Given the description of an element on the screen output the (x, y) to click on. 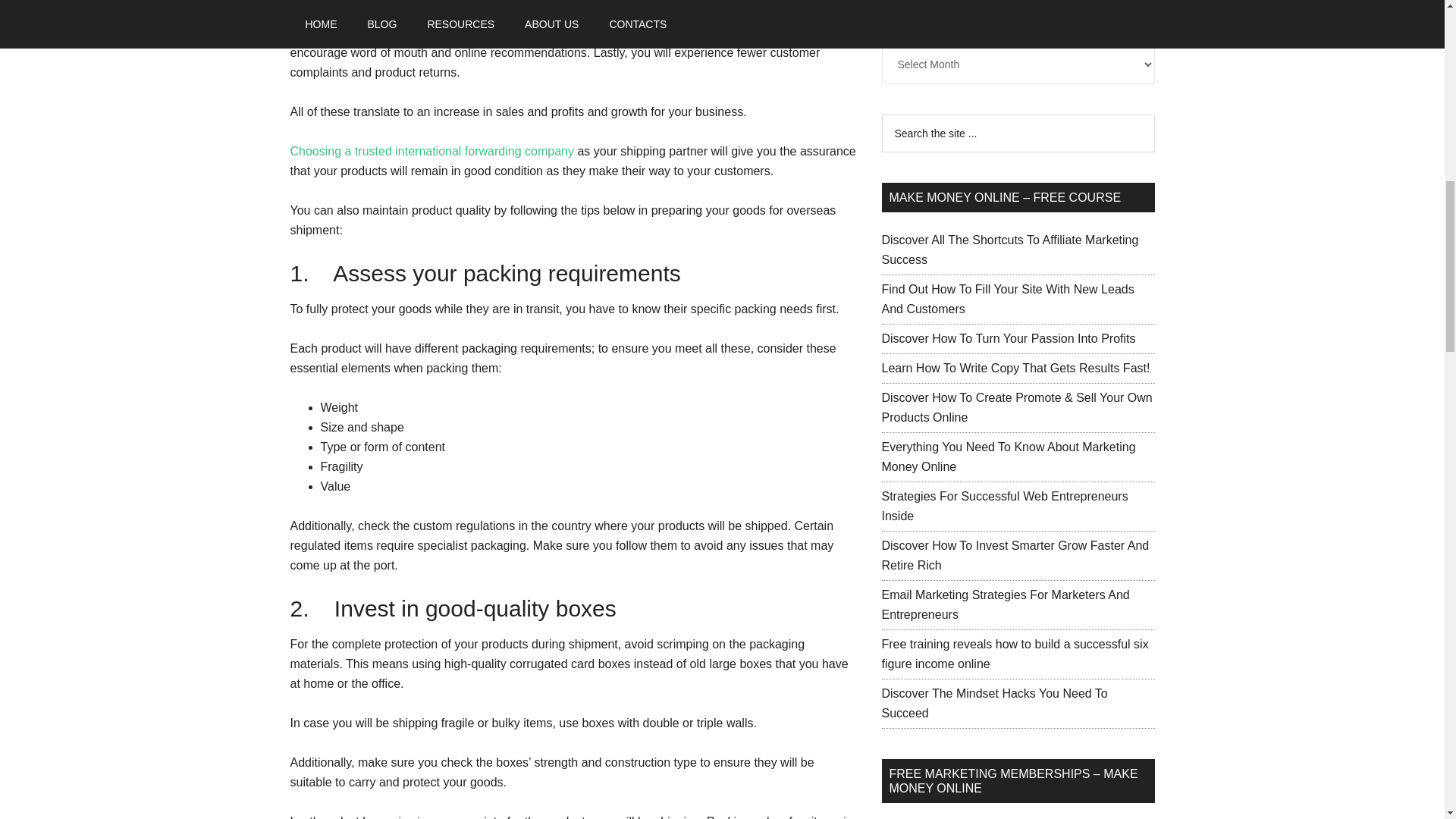
Choosing a trusted international forwarding company (431, 151)
